Given the description of an element on the screen output the (x, y) to click on. 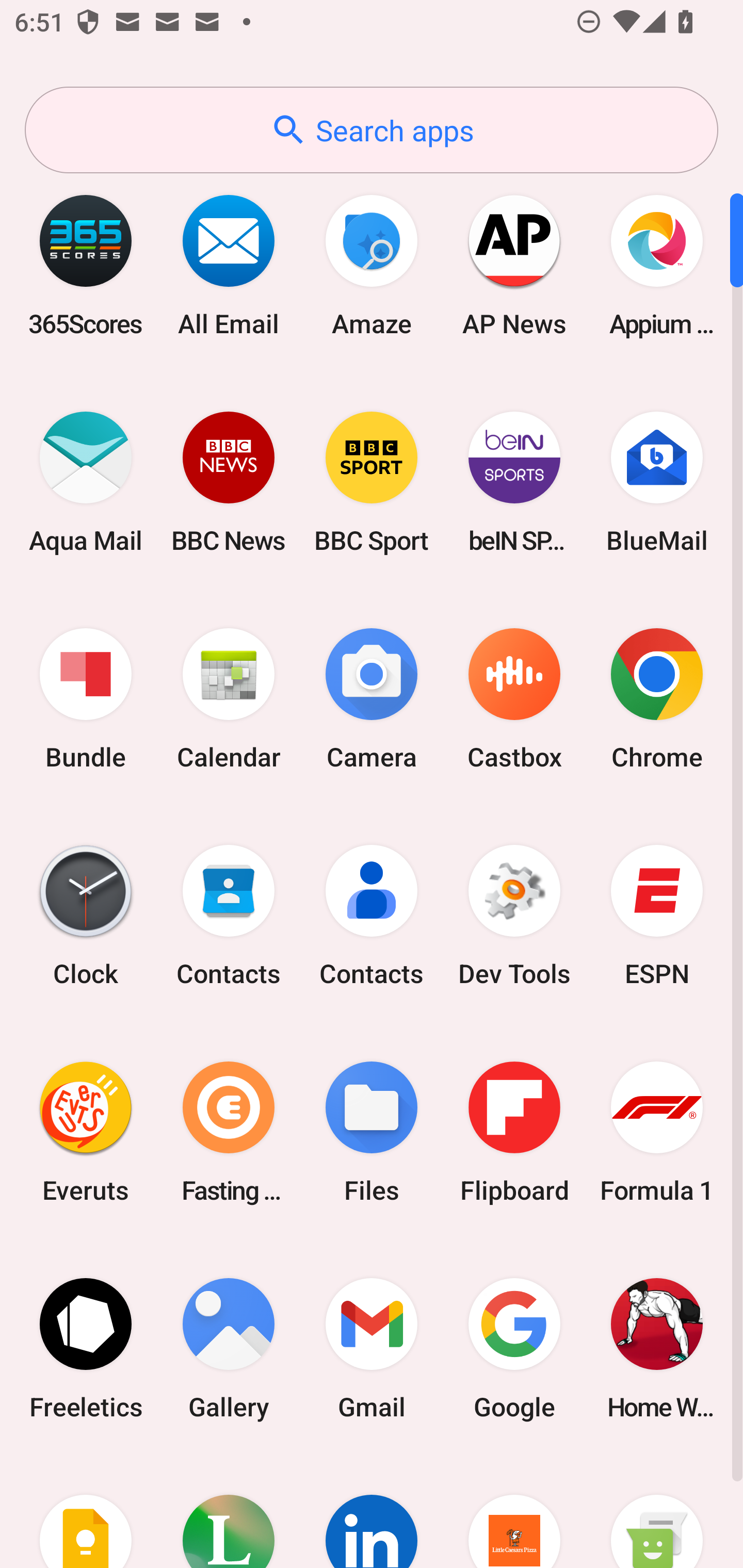
  Search apps (371, 130)
365Scores (85, 264)
All Email (228, 264)
Amaze (371, 264)
AP News (514, 264)
Appium Settings (656, 264)
Aqua Mail (85, 482)
BBC News (228, 482)
BBC Sport (371, 482)
beIN SPORTS (514, 482)
BlueMail (656, 482)
Bundle (85, 699)
Calendar (228, 699)
Camera (371, 699)
Castbox (514, 699)
Chrome (656, 699)
Clock (85, 915)
Contacts (228, 915)
Contacts (371, 915)
Dev Tools (514, 915)
ESPN (656, 915)
Everuts (85, 1131)
Fasting Coach (228, 1131)
Files (371, 1131)
Flipboard (514, 1131)
Formula 1 (656, 1131)
Freeletics (85, 1348)
Gallery (228, 1348)
Gmail (371, 1348)
Google (514, 1348)
Home Workout (656, 1348)
